Given the description of an element on the screen output the (x, y) to click on. 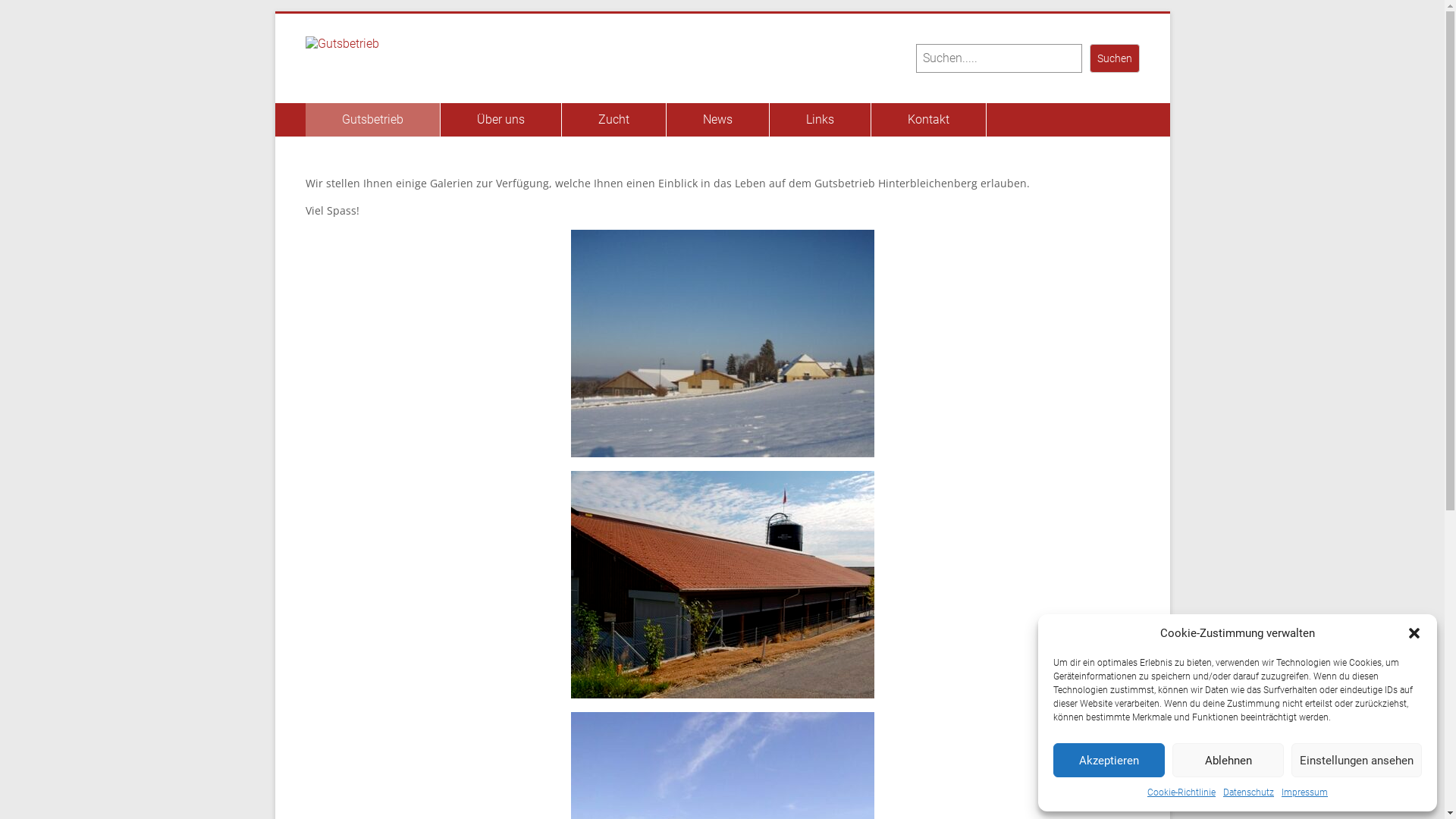
Einstellungen ansehen Element type: text (1356, 760)
Suchen Element type: text (1114, 57)
Zum Inhalt springen Element type: text (274, 12)
Kontakt Element type: text (927, 119)
Ablehnen Element type: text (1227, 760)
Akzeptieren Element type: text (1108, 760)
News Element type: text (716, 119)
OLYMPUS DIGITAL CAMERA Element type: hover (721, 343)
bild3 Element type: hover (721, 584)
Datenschutz Element type: text (1248, 792)
Zucht Element type: text (613, 119)
Gutsbetrieb Element type: text (371, 119)
Impressum Element type: text (1304, 792)
Cookie-Richtlinie Element type: text (1181, 792)
Links Element type: text (818, 119)
Gutsbetrieb Element type: text (377, 56)
